Given the description of an element on the screen output the (x, y) to click on. 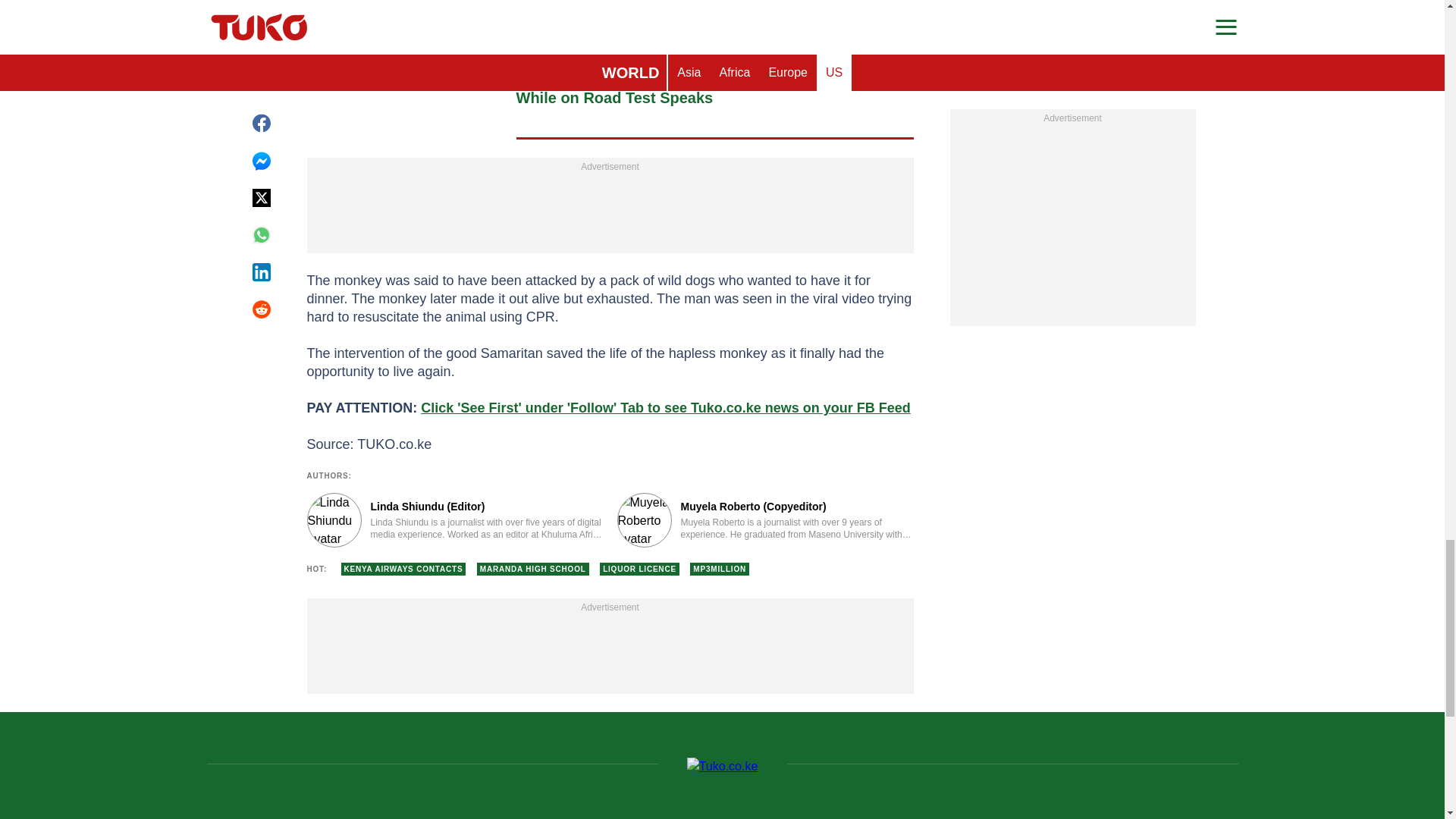
Author page (453, 520)
Author page (765, 520)
